Given the description of an element on the screen output the (x, y) to click on. 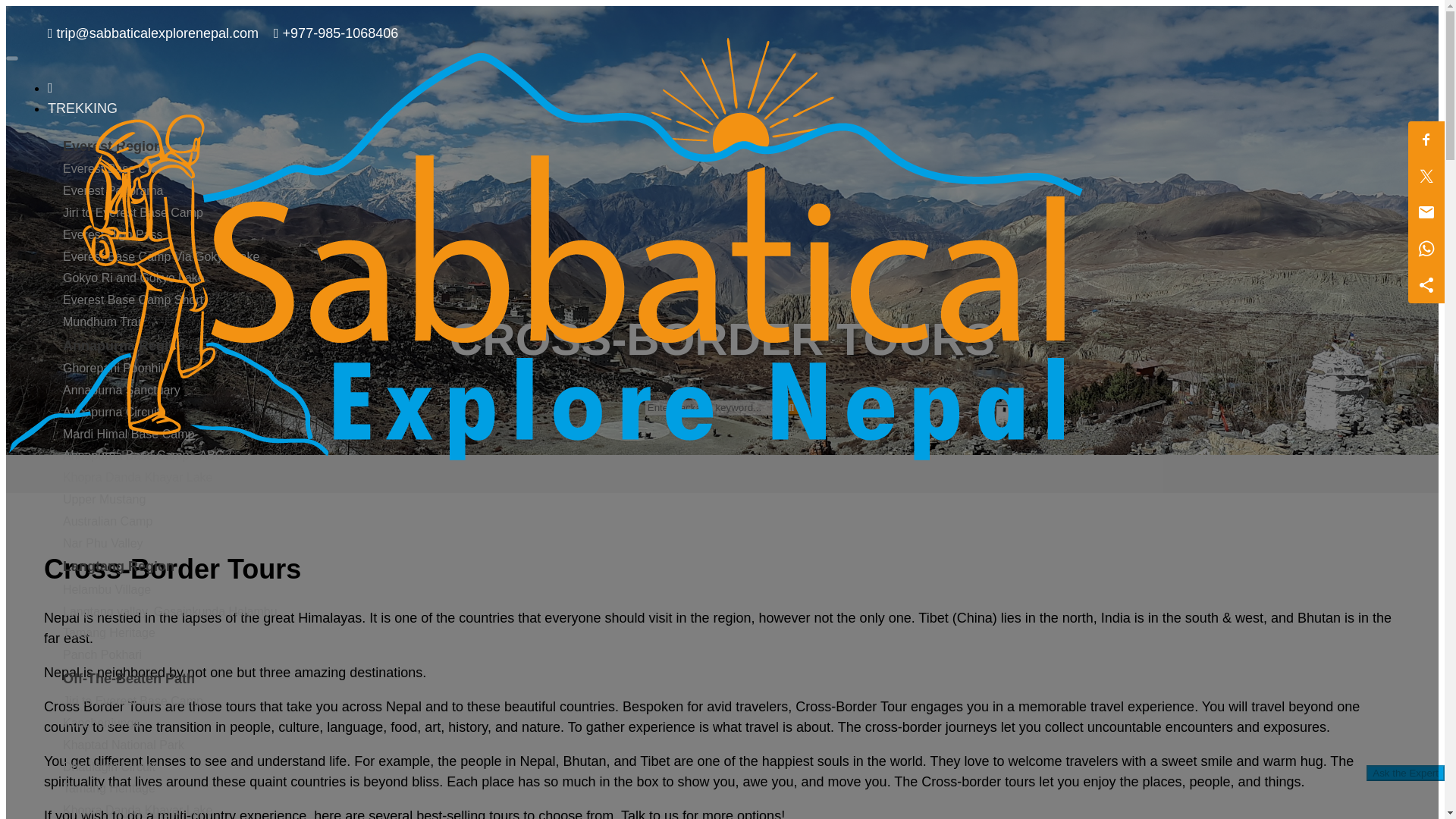
Khaptad National Park (123, 744)
Khopra Danda Khayar Lake (137, 809)
Tamang Heritage (108, 788)
Everest Base Camp (116, 168)
Australian Camp (107, 521)
Tamang Heritage (108, 632)
Langtang Region (118, 566)
Gokyo Ri and Gokyo Lake (133, 277)
Khopra Danda Khayar Lake (137, 477)
Annapurna Base Camp - ABC (143, 454)
Everest Panorama (112, 190)
Everest Base Camp Short (132, 299)
Everest Region (111, 145)
Jiri to Everest Base Camp (132, 700)
Mundhum Trail (102, 321)
